Given the description of an element on the screen output the (x, y) to click on. 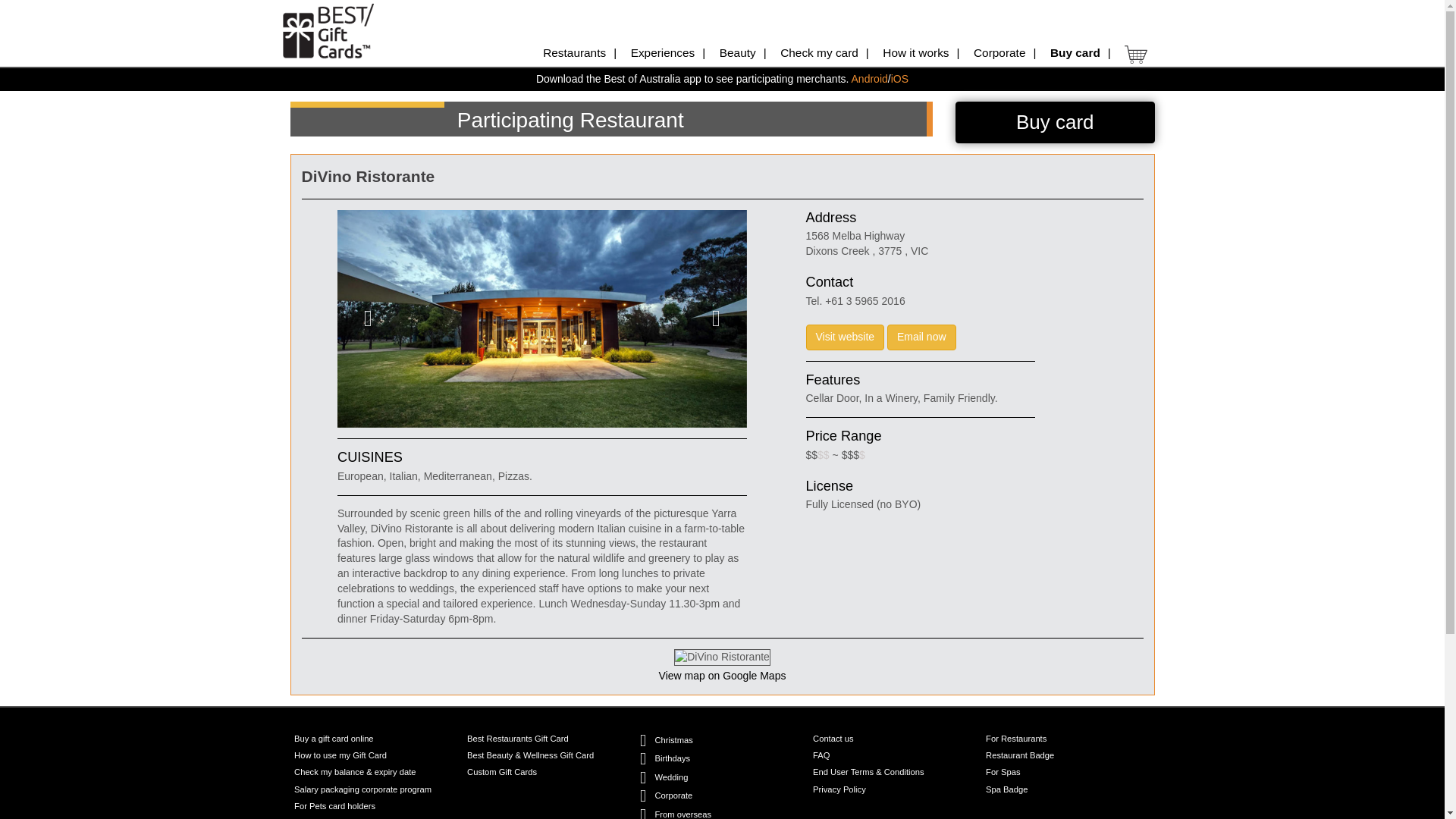
From overseas (682, 813)
View map on Google Maps (722, 675)
Visit website (844, 337)
Salary packaging corporate program (362, 789)
iOS (899, 78)
Best Gift Cards (328, 30)
Privacy Policy (839, 789)
Wedding (670, 777)
Buy a gift card online (333, 738)
Android (869, 78)
Contact us (832, 738)
How to use my Gift Card (340, 755)
Email now (921, 337)
Christmas (673, 739)
Corporate (673, 795)
